Given the description of an element on the screen output the (x, y) to click on. 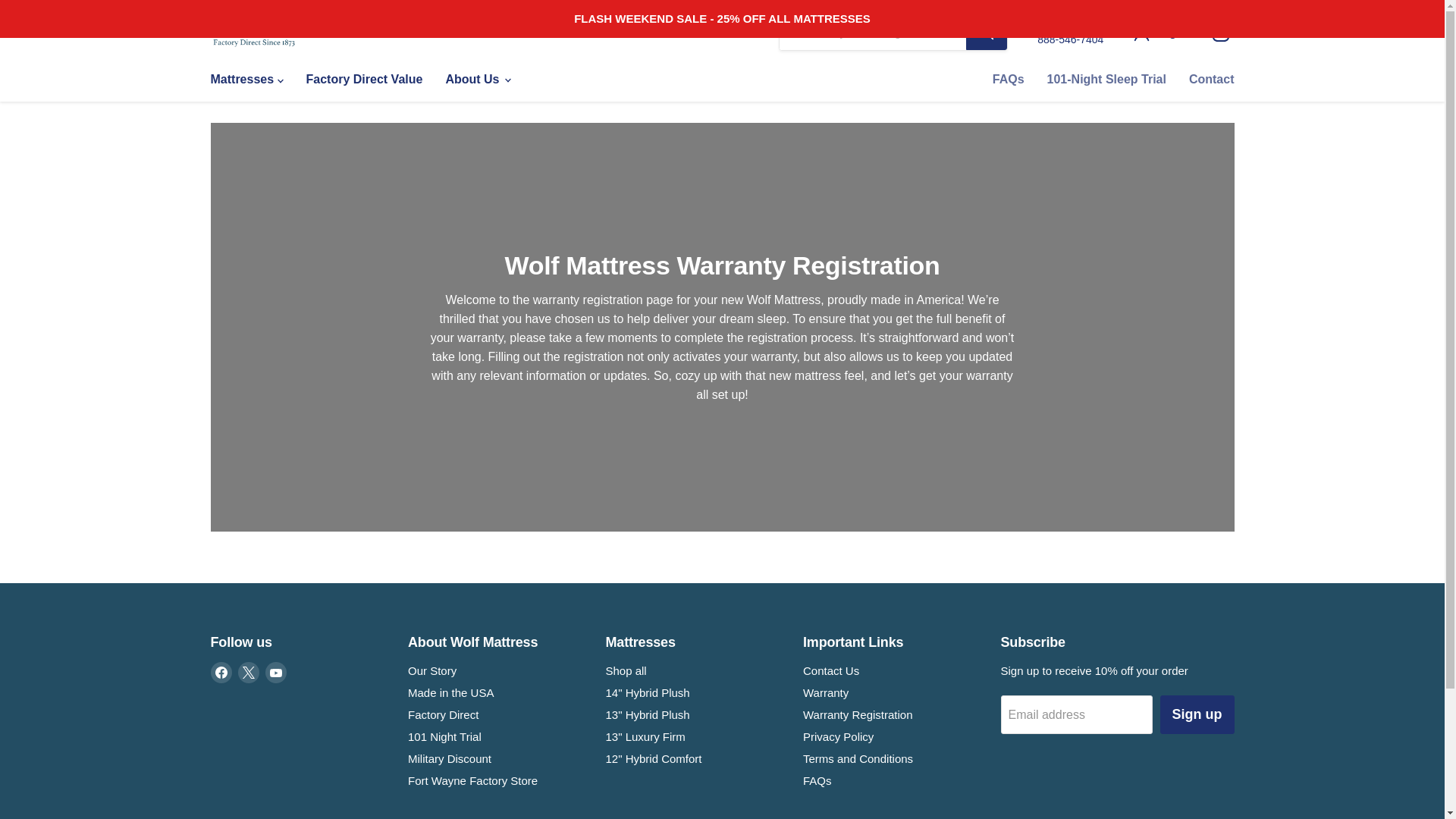
Factory Direct Value (364, 79)
101-Night Sleep Trial (1106, 79)
X (248, 672)
YouTube (275, 672)
View cart (1220, 32)
Facebook (221, 672)
Login (1069, 31)
Contact (1163, 32)
FAQs (1211, 79)
